Given the description of an element on the screen output the (x, y) to click on. 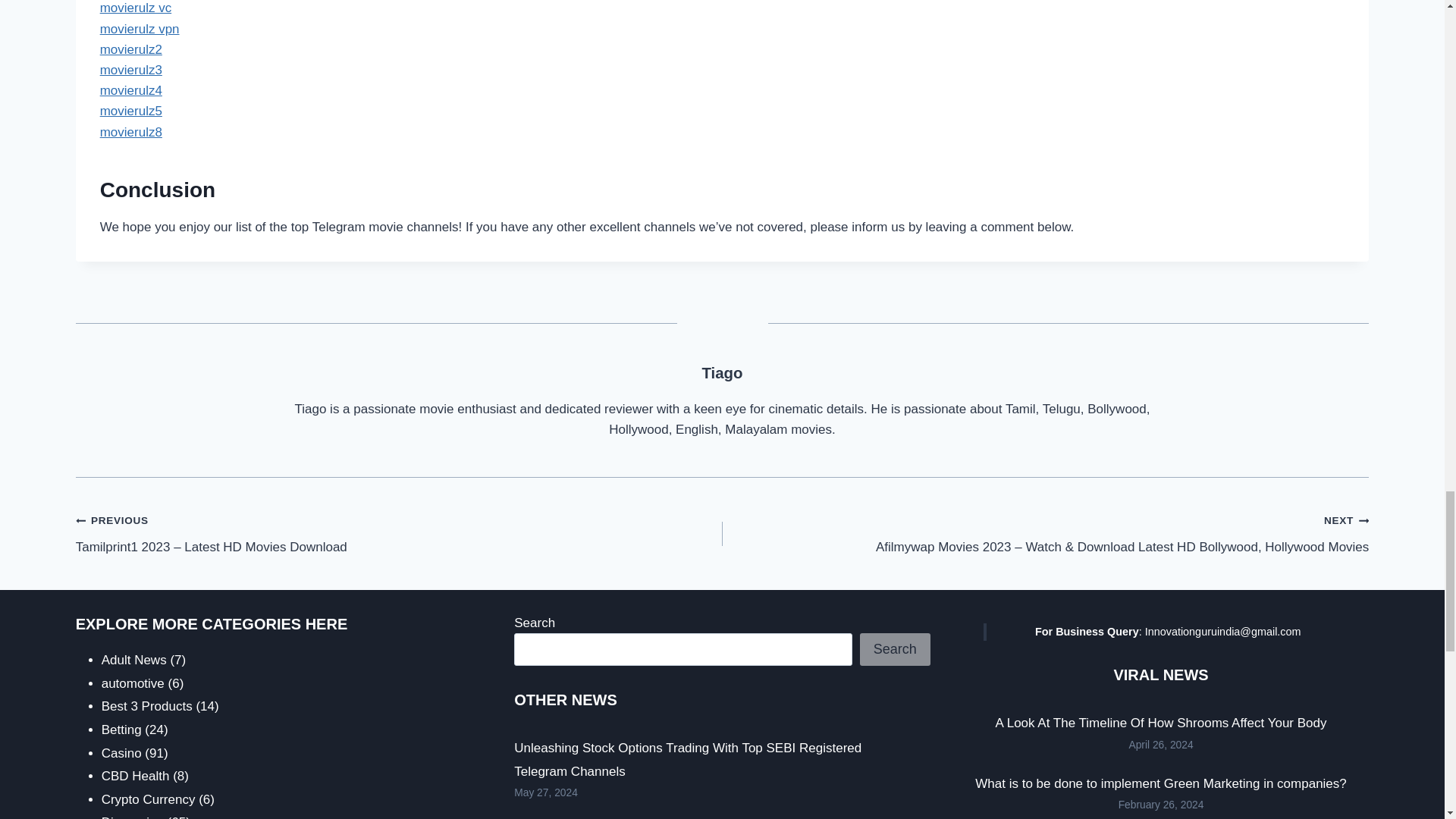
automotive (132, 683)
movierulz vpn (139, 29)
movierulz4 (130, 90)
movierulz2 (130, 49)
movierulz8 (130, 132)
movierulz vc (135, 7)
movierulz5 (130, 110)
Adult News (134, 659)
movierulz3 (130, 69)
Best 3 Products (146, 706)
